Given the description of an element on the screen output the (x, y) to click on. 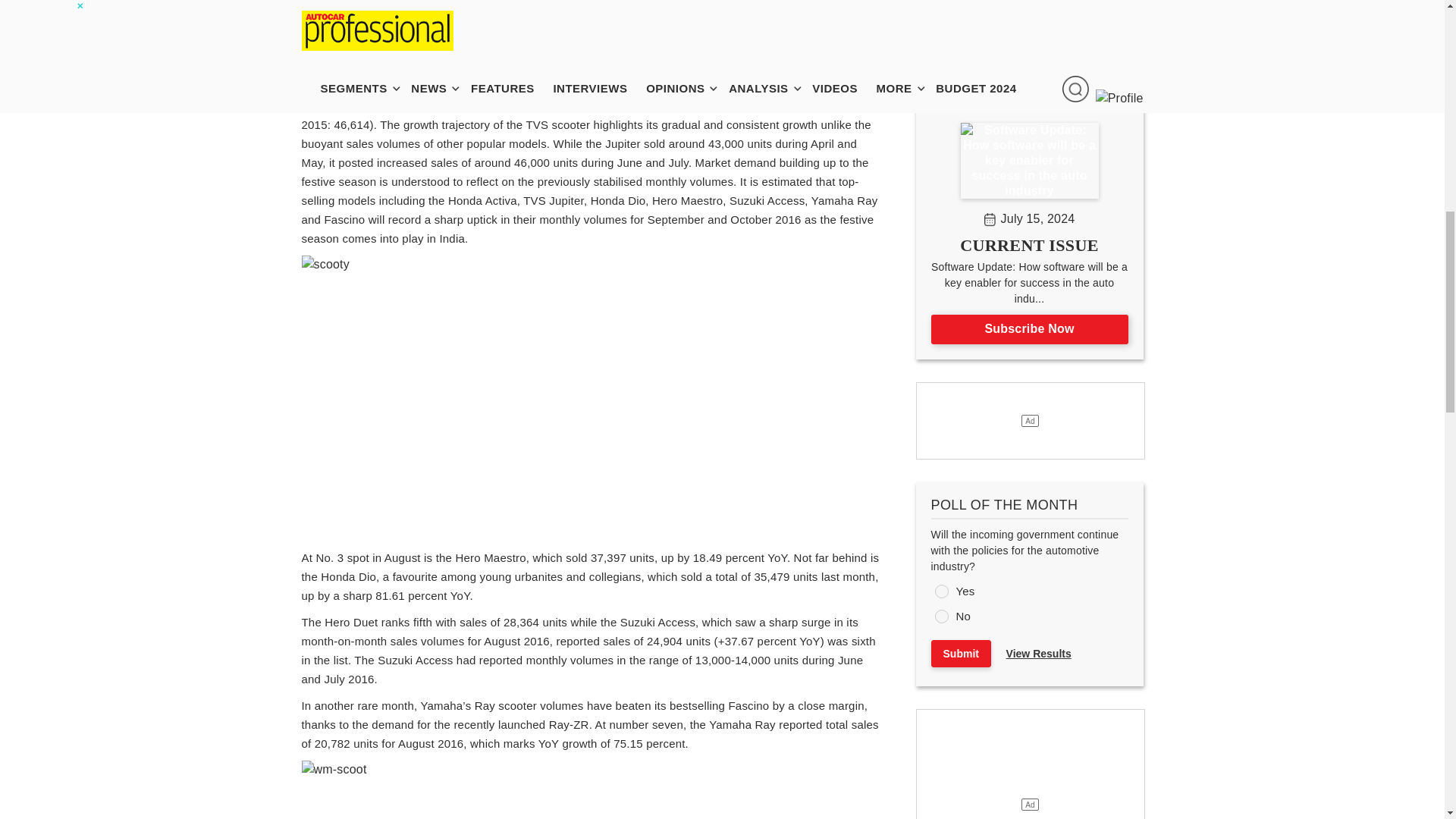
wm-scoot (566, 789)
294 (940, 616)
293 (940, 591)
